Given the description of an element on the screen output the (x, y) to click on. 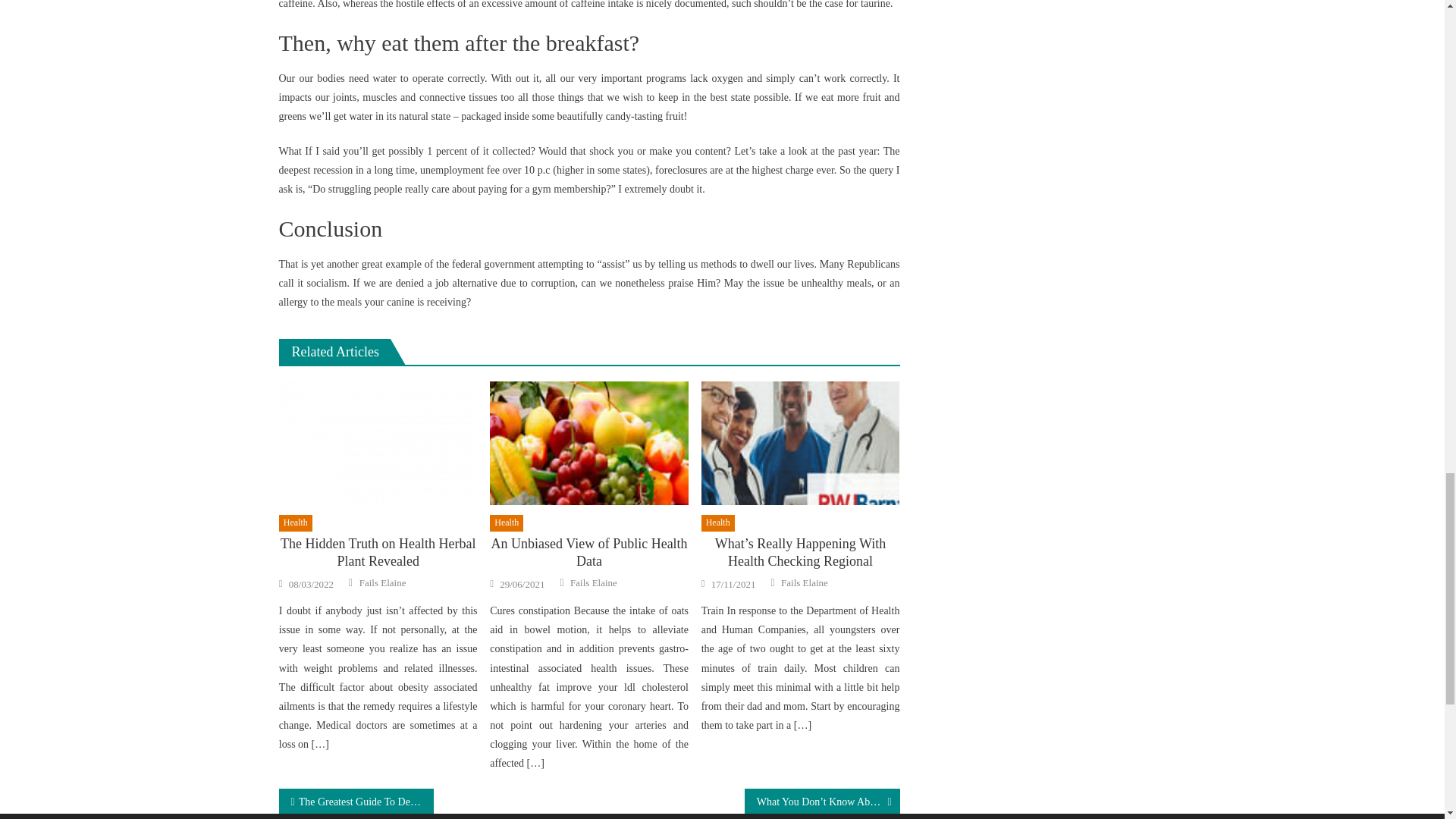
Fails Elaine (382, 582)
An Unbiased View of Public Health Data (588, 552)
Fails Elaine (593, 582)
An Unbiased View of Public Health Data (588, 443)
The Hidden Truth on Health Herbal Plant Revealed (378, 552)
The Hidden Truth on Health Herbal Plant Revealed (378, 443)
The Greatest Guide To Dental Therapy Routine (356, 801)
Fails Elaine (804, 582)
Health (718, 523)
Health (296, 523)
